Given the description of an element on the screen output the (x, y) to click on. 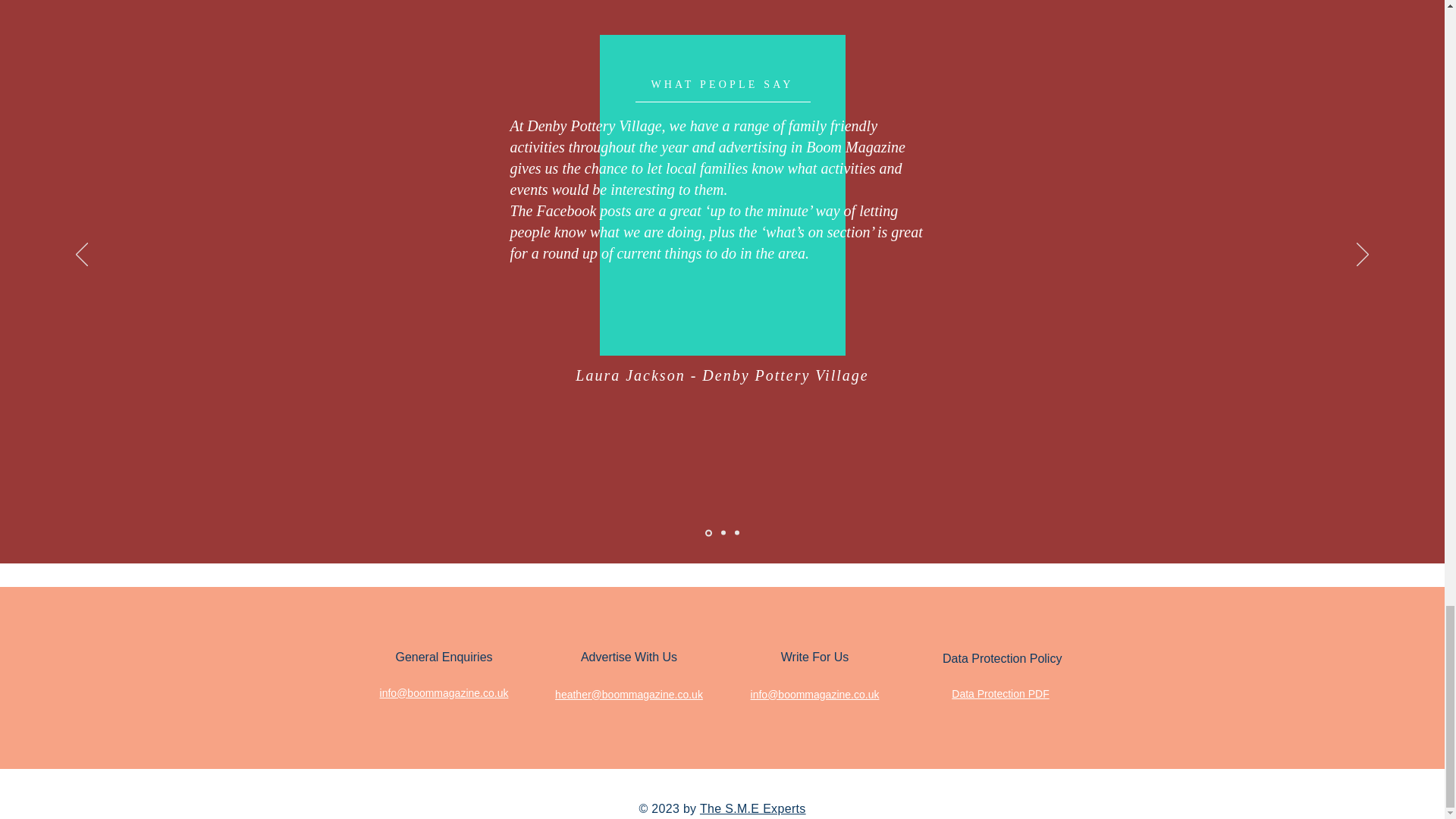
The S.M.E Experts (753, 808)
Data Protection PDF (1000, 693)
